Given the description of an element on the screen output the (x, y) to click on. 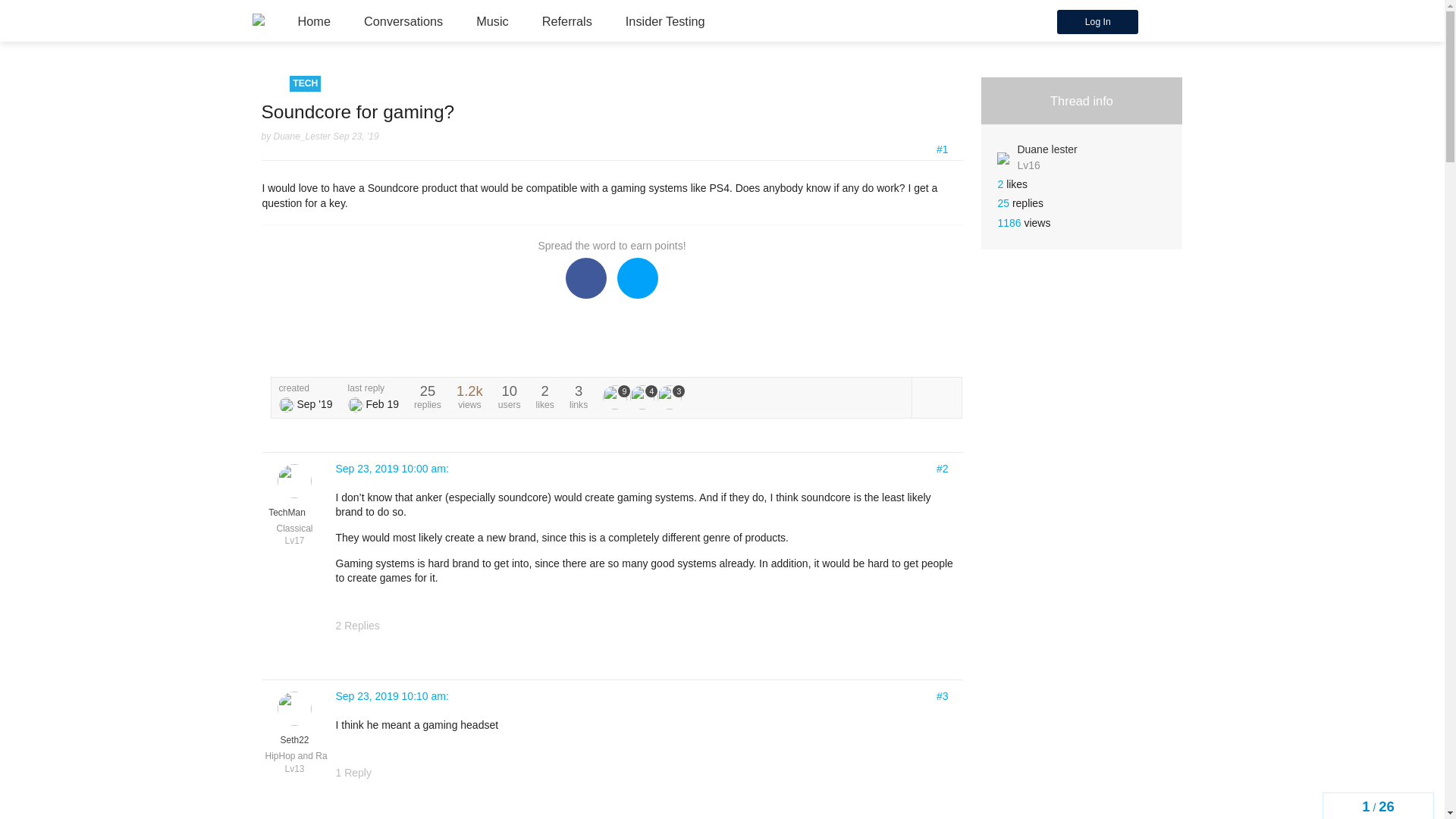
TECH (304, 83)
last reply (372, 388)
Conversations (403, 21)
share a link to this post (946, 325)
Share this link on Facebook (586, 277)
Duane lester (286, 404)
Log In (1097, 21)
Share this link on Twitter (637, 277)
Insider Testing (665, 21)
Referrals (566, 21)
Soundcore for gaming? (357, 111)
topic progress (1378, 805)
toggle topic details (935, 397)
Sep 23, 2019 9:24 am (355, 136)
